Given the description of an element on the screen output the (x, y) to click on. 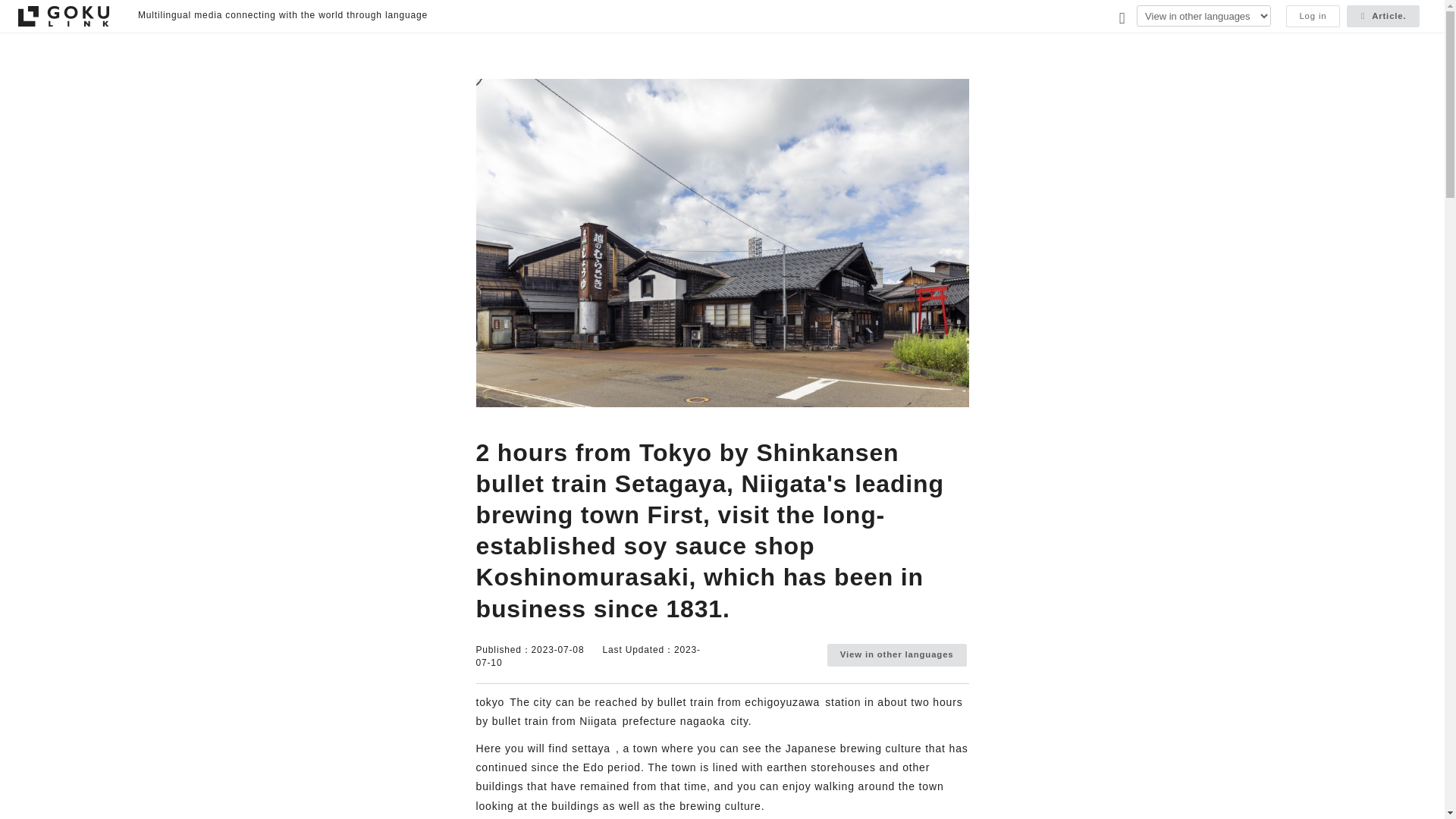
Log in (1312, 15)
Article. (1382, 15)
View in other languages (896, 654)
